Given the description of an element on the screen output the (x, y) to click on. 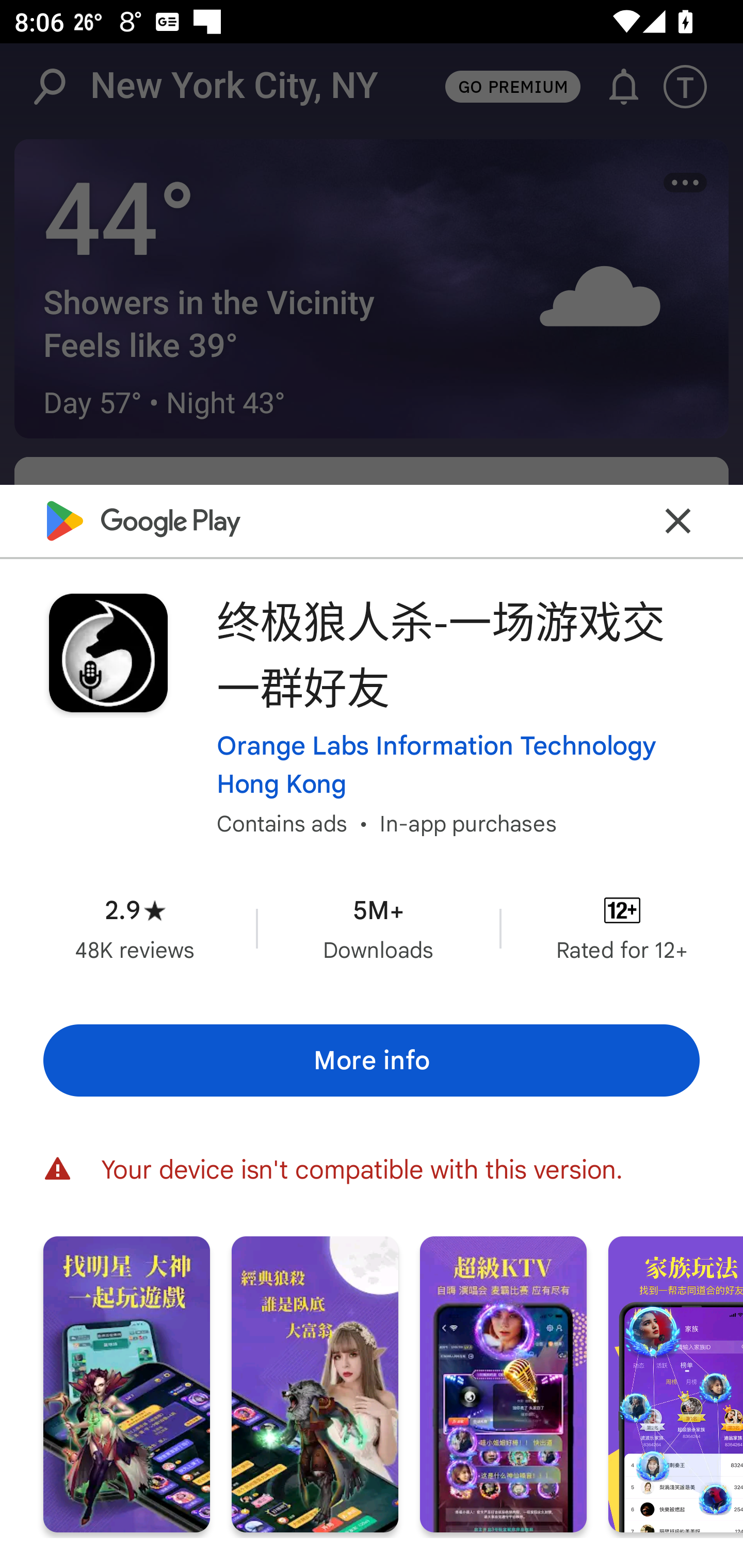
Close (677, 520)
Image of app or game icon for 终极狼人杀-一场游戏交一群好友 (108, 653)
Orange Labs Information Technology Hong Kong (457, 763)
More info (371, 1059)
Screenshot "1" of "8" (126, 1383)
Screenshot "2" of "8" (314, 1383)
Screenshot "3" of "8" (502, 1383)
Screenshot "4" of "8" (675, 1383)
